Given the description of an element on the screen output the (x, y) to click on. 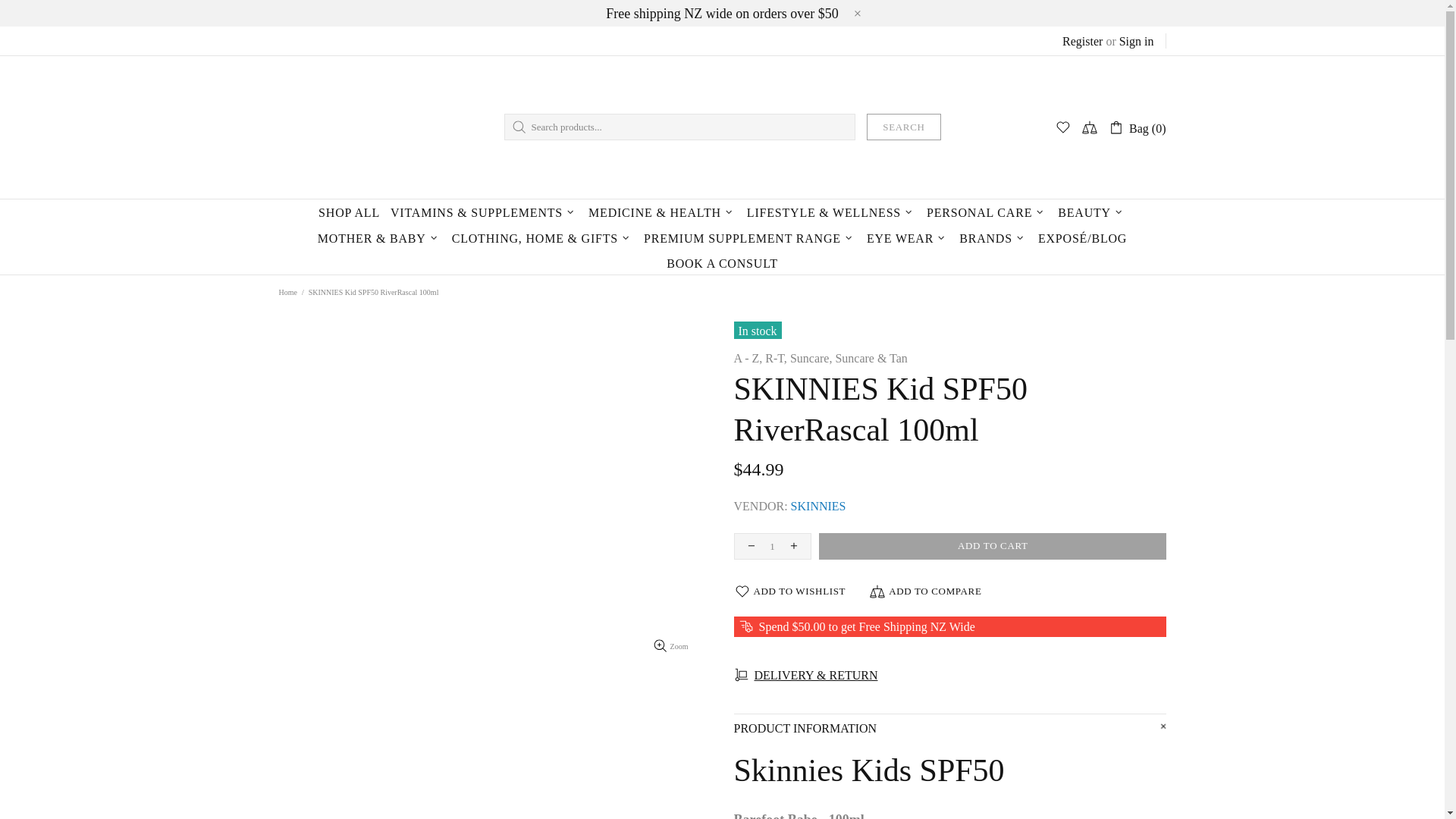
SHOP ALL (349, 212)
Sign in (1136, 41)
Matakana Pharmacy (361, 127)
1 (771, 546)
SEARCH (903, 126)
Register (1082, 41)
